Given the description of an element on the screen output the (x, y) to click on. 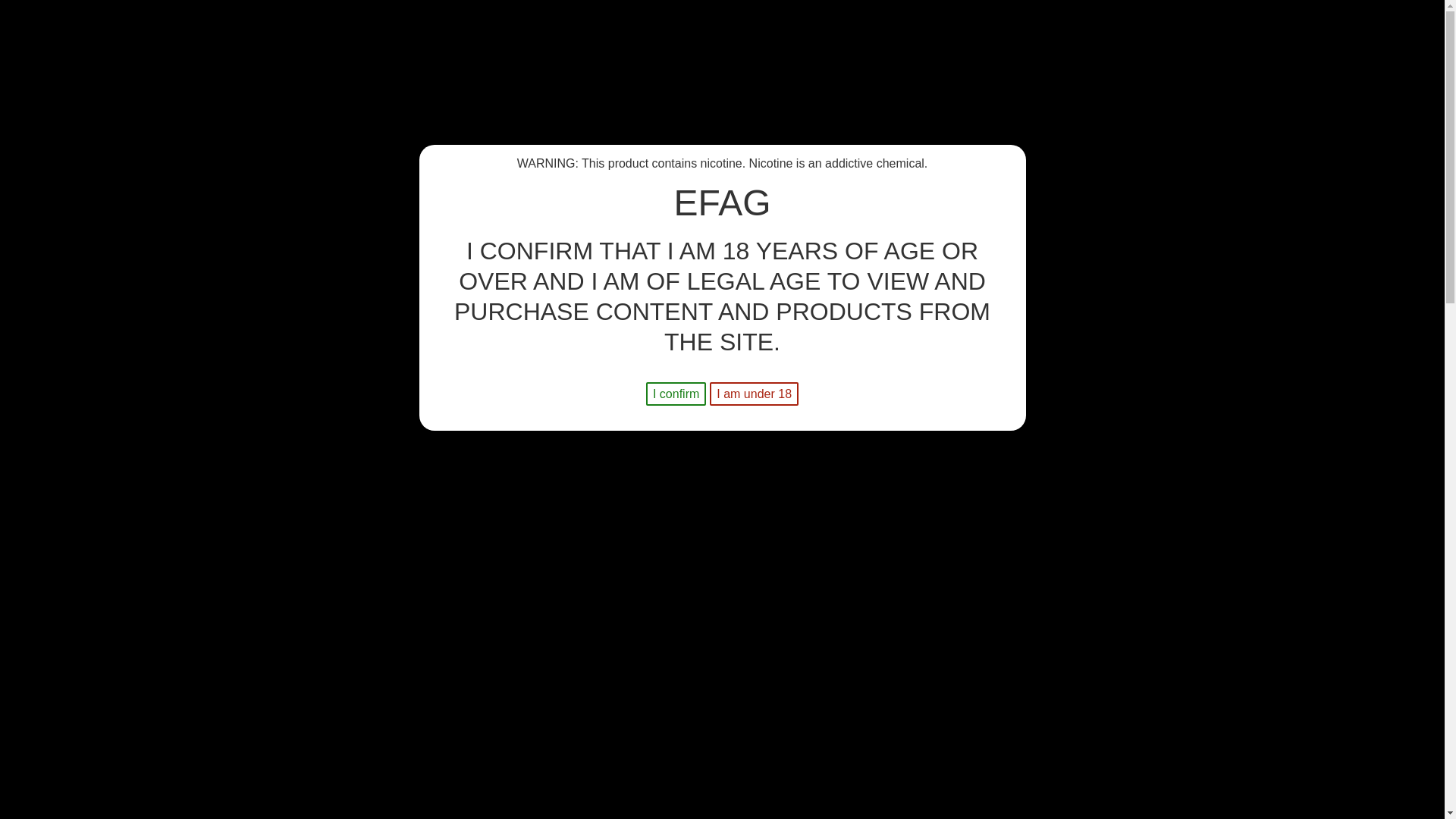
Strawberry Crush by Pacha Mama Salt E... (441, 346)
I confirm (676, 393)
Sign in (1211, 104)
E LIQUID (245, 152)
I am under 18 (753, 393)
1 (756, 464)
0876324849 (416, 90)
Log in to your customer account (1211, 104)
